Given the description of an element on the screen output the (x, y) to click on. 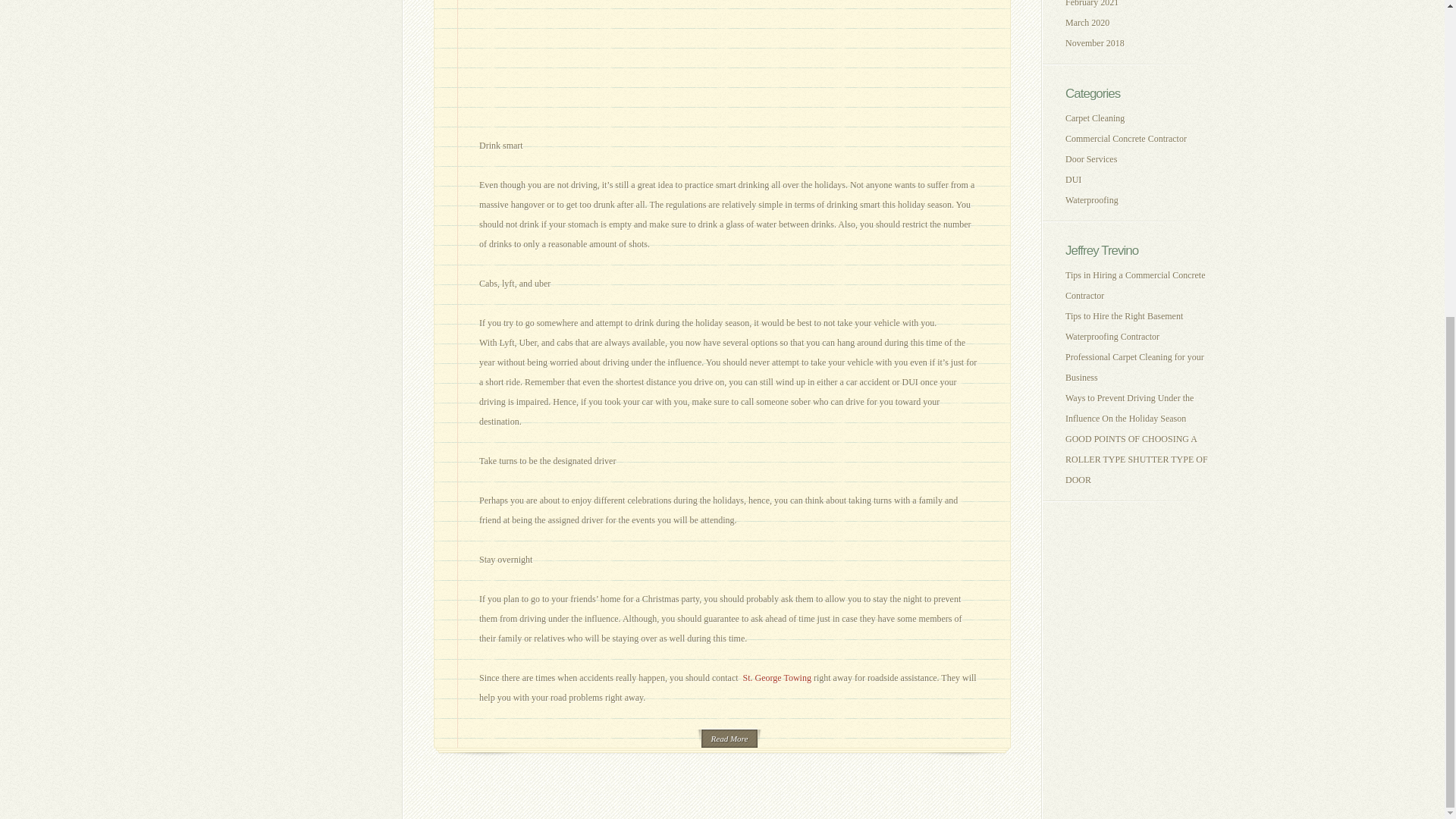
Read More (729, 737)
St. George Towing (776, 677)
